Given the description of an element on the screen output the (x, y) to click on. 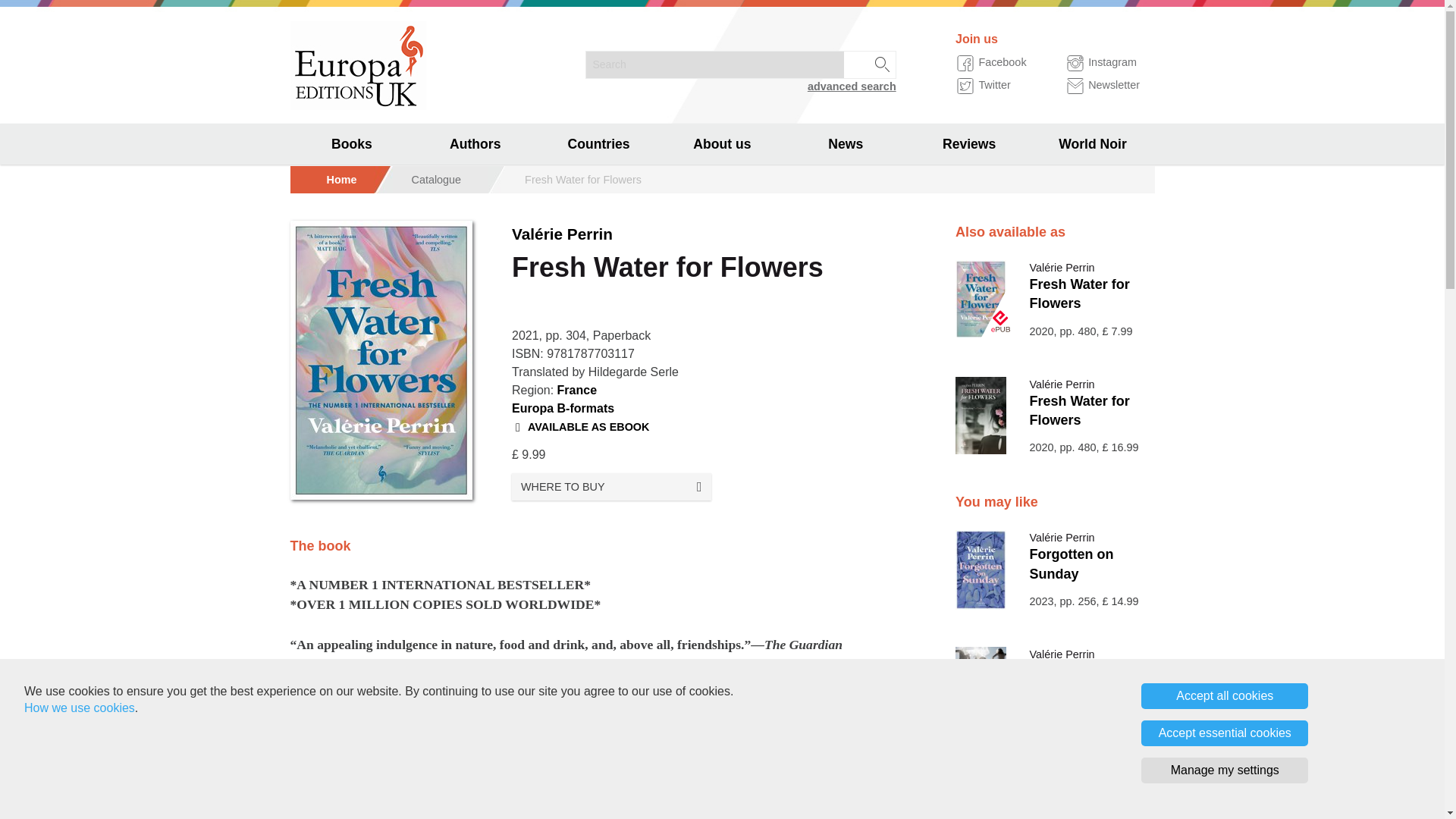
Geotags (351, 307)
Fresh Water for Flowers (1079, 293)
Countries (599, 143)
World Noir (1092, 143)
Accept essential cookies (1224, 733)
France (576, 390)
Accept all cookies (1224, 696)
Previews (351, 225)
Home (341, 179)
About us (722, 143)
